Given the description of an element on the screen output the (x, y) to click on. 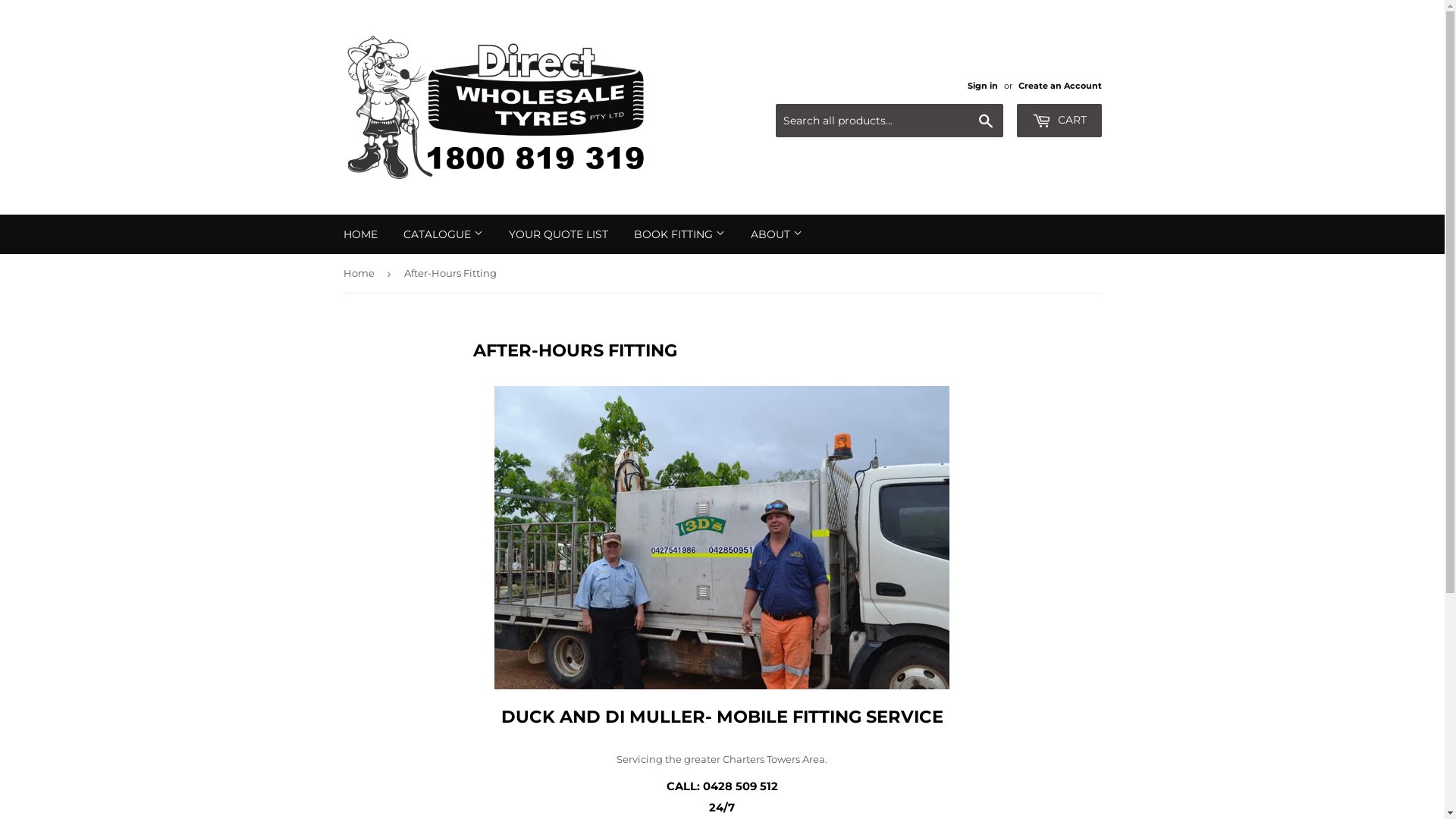
ABOUT Element type: text (775, 234)
Sign in Element type: text (982, 85)
Search Element type: text (986, 121)
YOUR QUOTE LIST Element type: text (558, 234)
HOME Element type: text (360, 234)
CART Element type: text (1058, 120)
CATALOGUE Element type: text (442, 234)
BOOK FITTING Element type: text (678, 234)
Create an Account Element type: text (1059, 85)
Home Element type: text (360, 273)
